Given the description of an element on the screen output the (x, y) to click on. 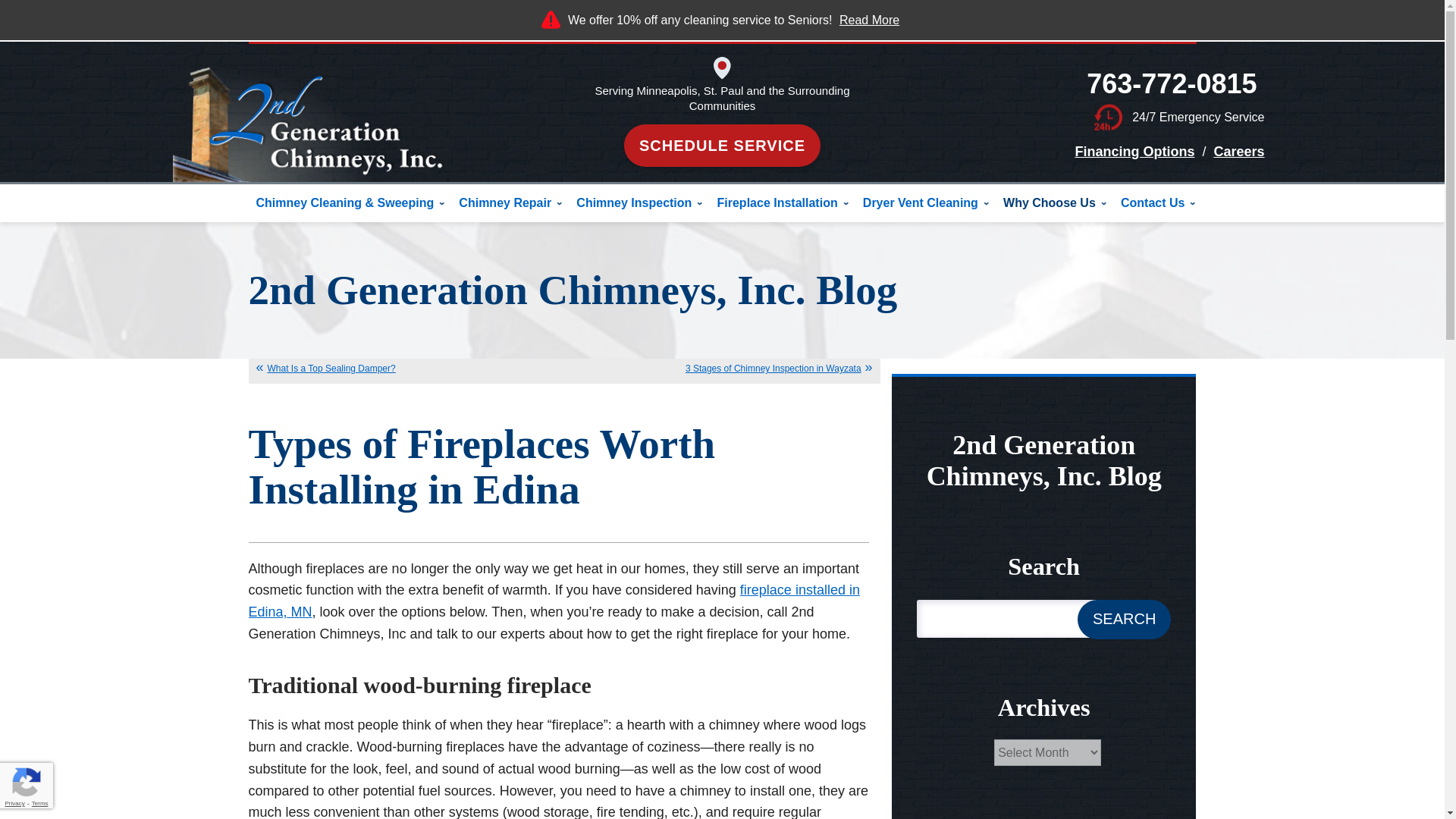
SCHEDULE SERVICE (722, 145)
Careers (1237, 151)
763-772-0815 (1171, 83)
Financing Options (1133, 151)
Read More (868, 19)
Chimney Repair (506, 202)
Chimney Inspection (636, 202)
